Given the description of an element on the screen output the (x, y) to click on. 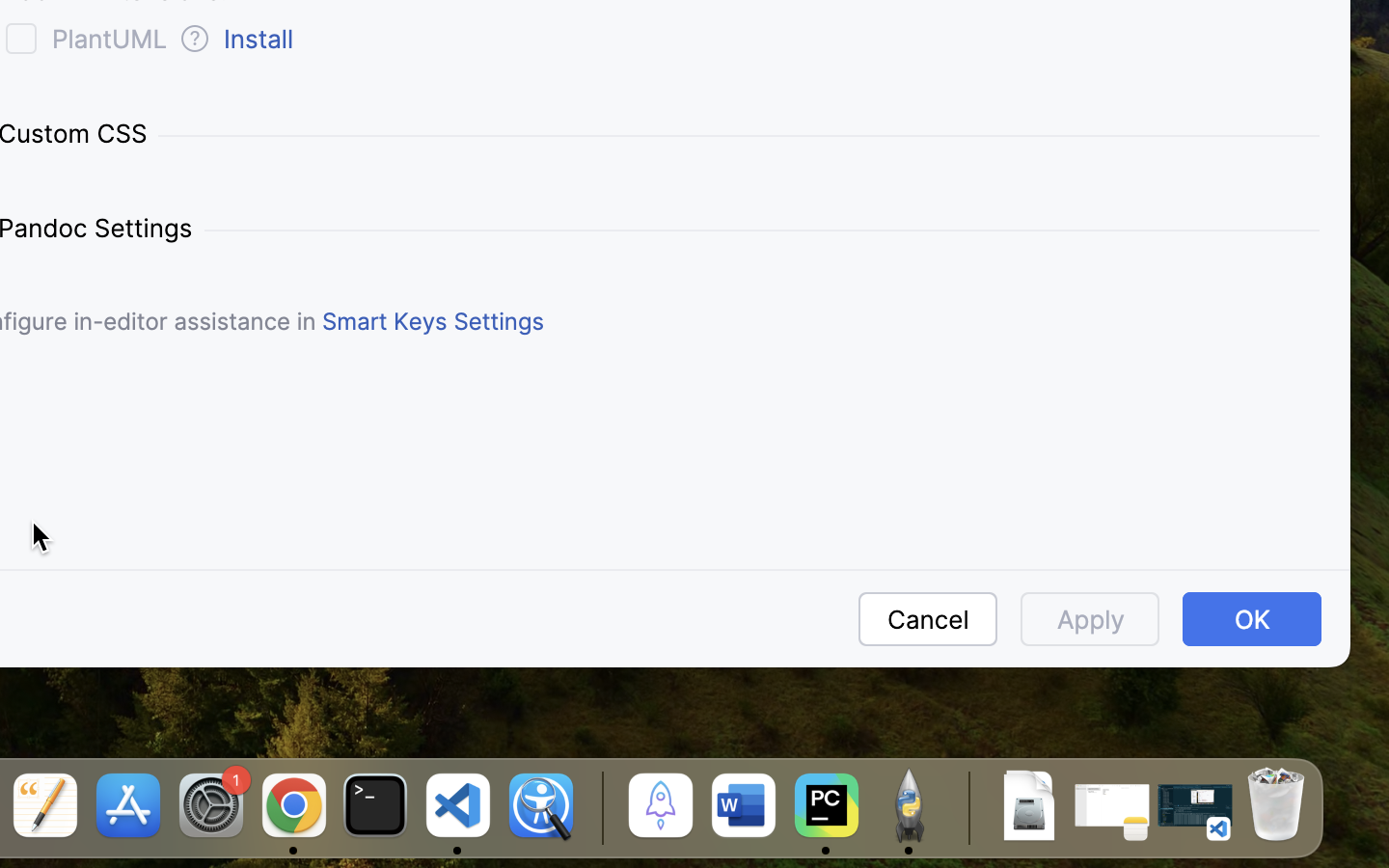
0.4285714328289032 Element type: AXDockItem (598, 807)
